Given the description of an element on the screen output the (x, y) to click on. 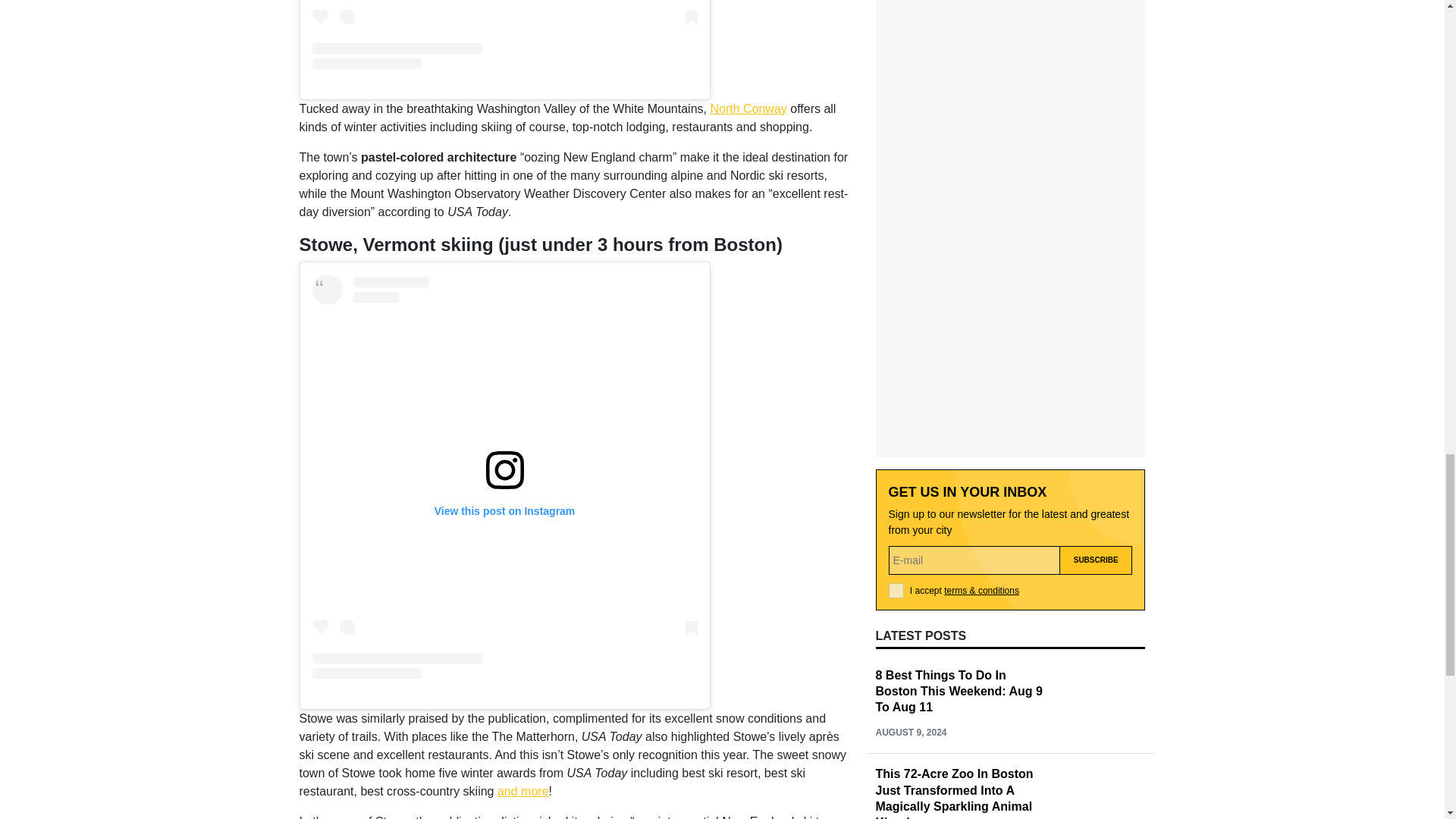
View this post on Instagram (505, 34)
North Conway (748, 108)
and more (522, 790)
